Given the description of an element on the screen output the (x, y) to click on. 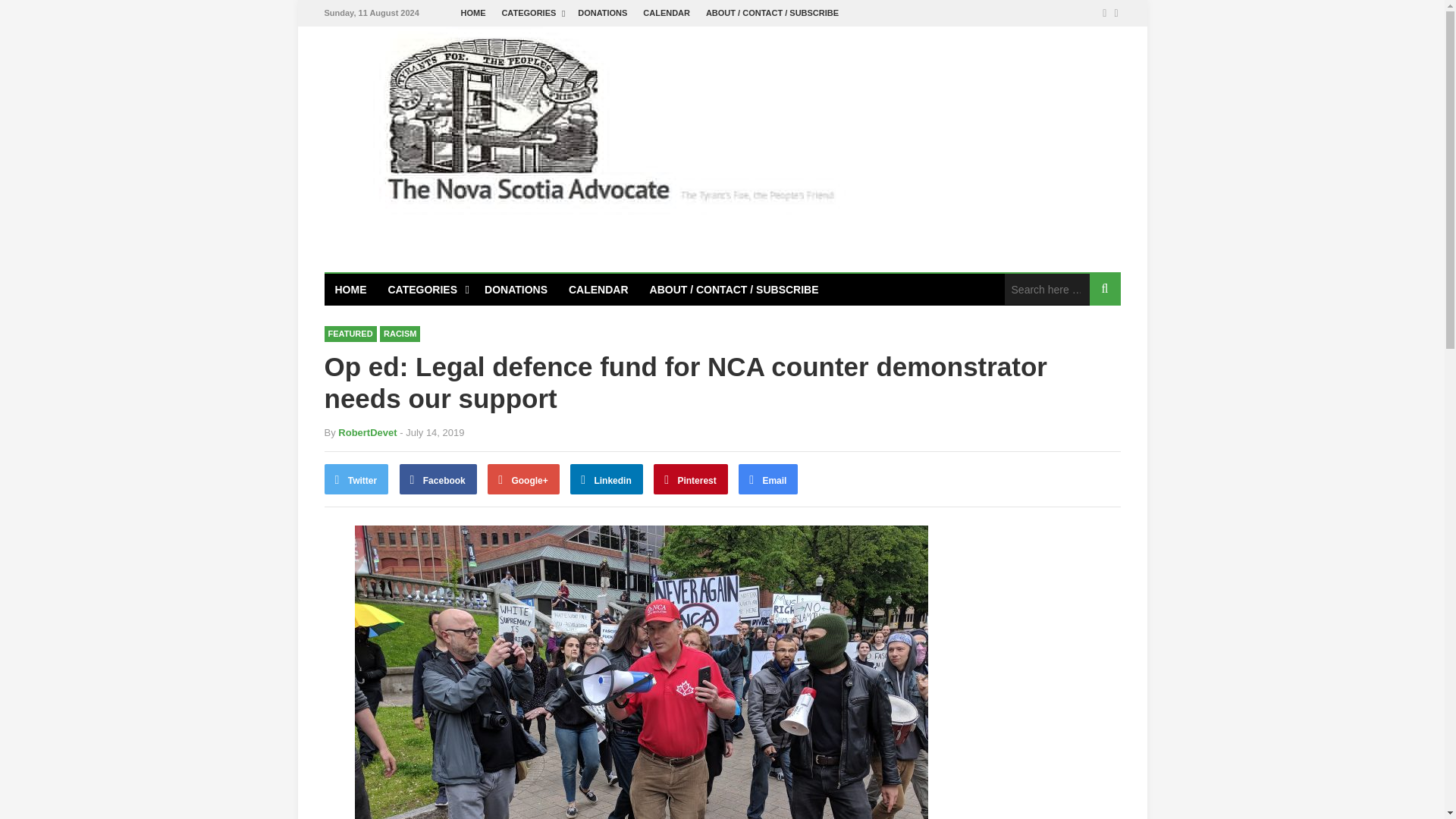
CATEGORIES (531, 13)
Sunday, July 14, 2019, 11:02 am (431, 432)
DONATIONS (602, 13)
CALENDAR (666, 13)
HOME (473, 13)
Search for: (1046, 288)
